Given the description of an element on the screen output the (x, y) to click on. 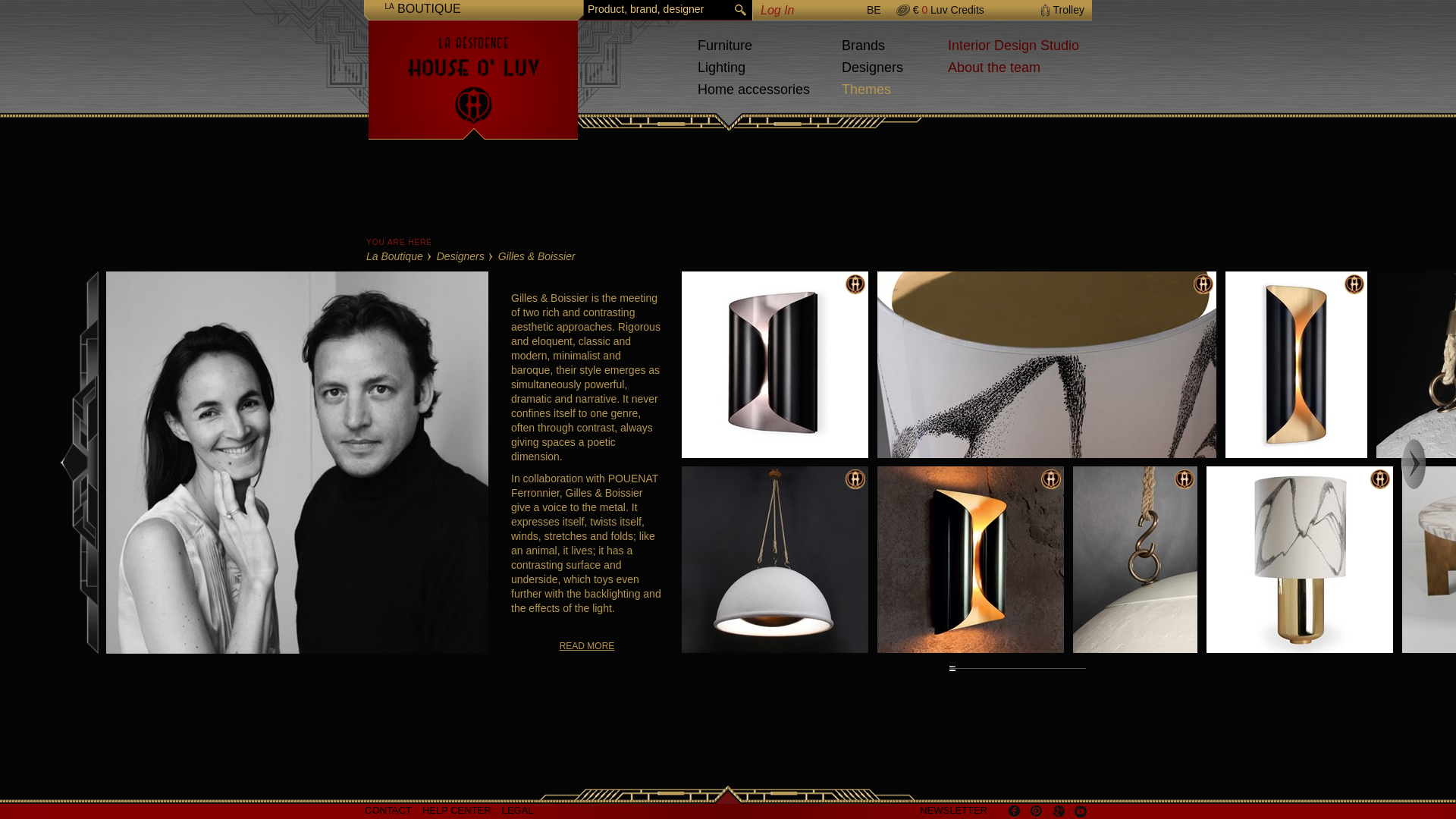
Brands (863, 45)
Home (473, 72)
Home accessories (753, 89)
Lighting (721, 67)
About the team (994, 67)
Furniture (724, 45)
Interior Design Studio (1012, 45)
Designers (871, 67)
Themes (866, 89)
Log In (776, 10)
0 (924, 9)
Trolley (1062, 10)
